Given the description of an element on the screen output the (x, y) to click on. 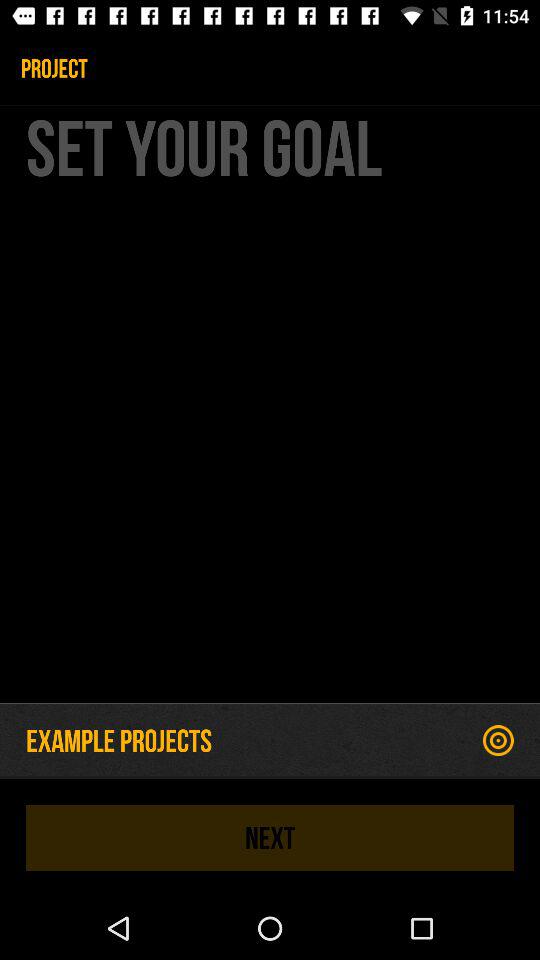
click the icon below example projects (269, 837)
